Given the description of an element on the screen output the (x, y) to click on. 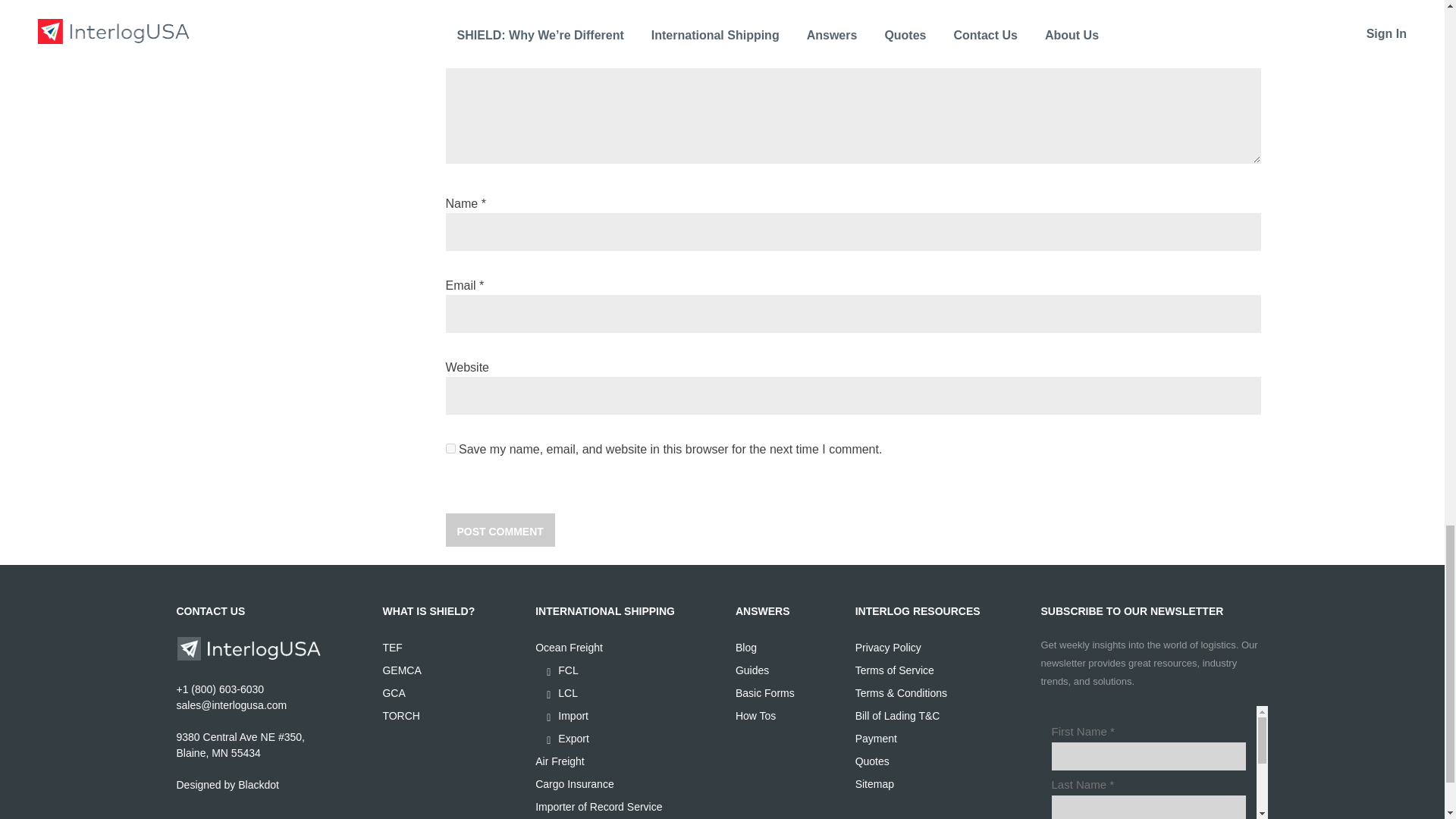
yes (450, 448)
Blackdot (258, 784)
Post Comment (499, 530)
